Given the description of an element on the screen output the (x, y) to click on. 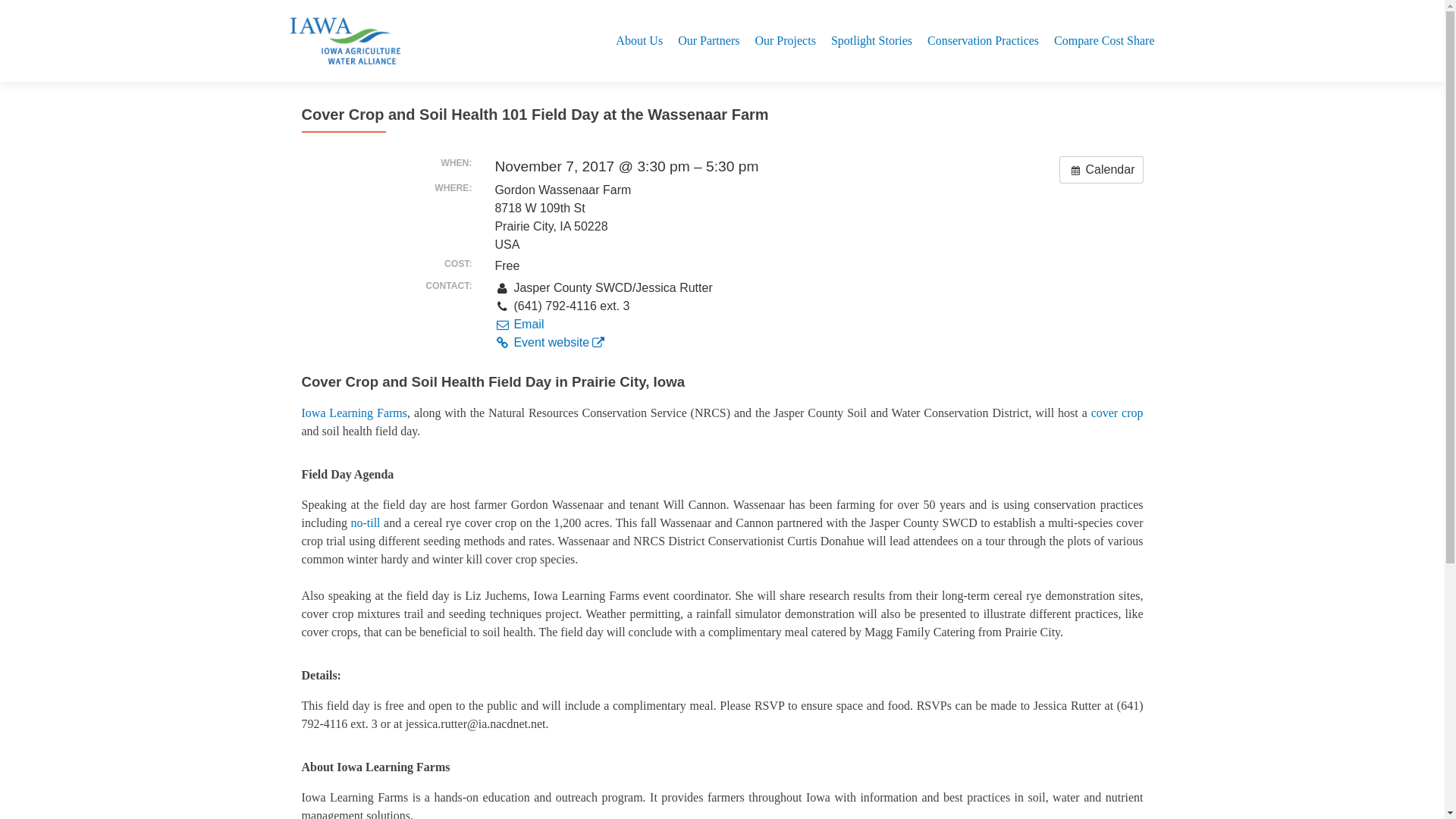
View all events (1100, 169)
Compare Cost Share (1104, 40)
Email (519, 323)
Our Projects (784, 40)
Conservation Practices (983, 40)
Event website (549, 341)
no-till (365, 522)
Spotlight Stories (871, 40)
Our Partners (708, 40)
About Us (638, 40)
cover crop (1116, 412)
Calendar (1100, 169)
Iowa Learning Farms (354, 412)
